Given the description of an element on the screen output the (x, y) to click on. 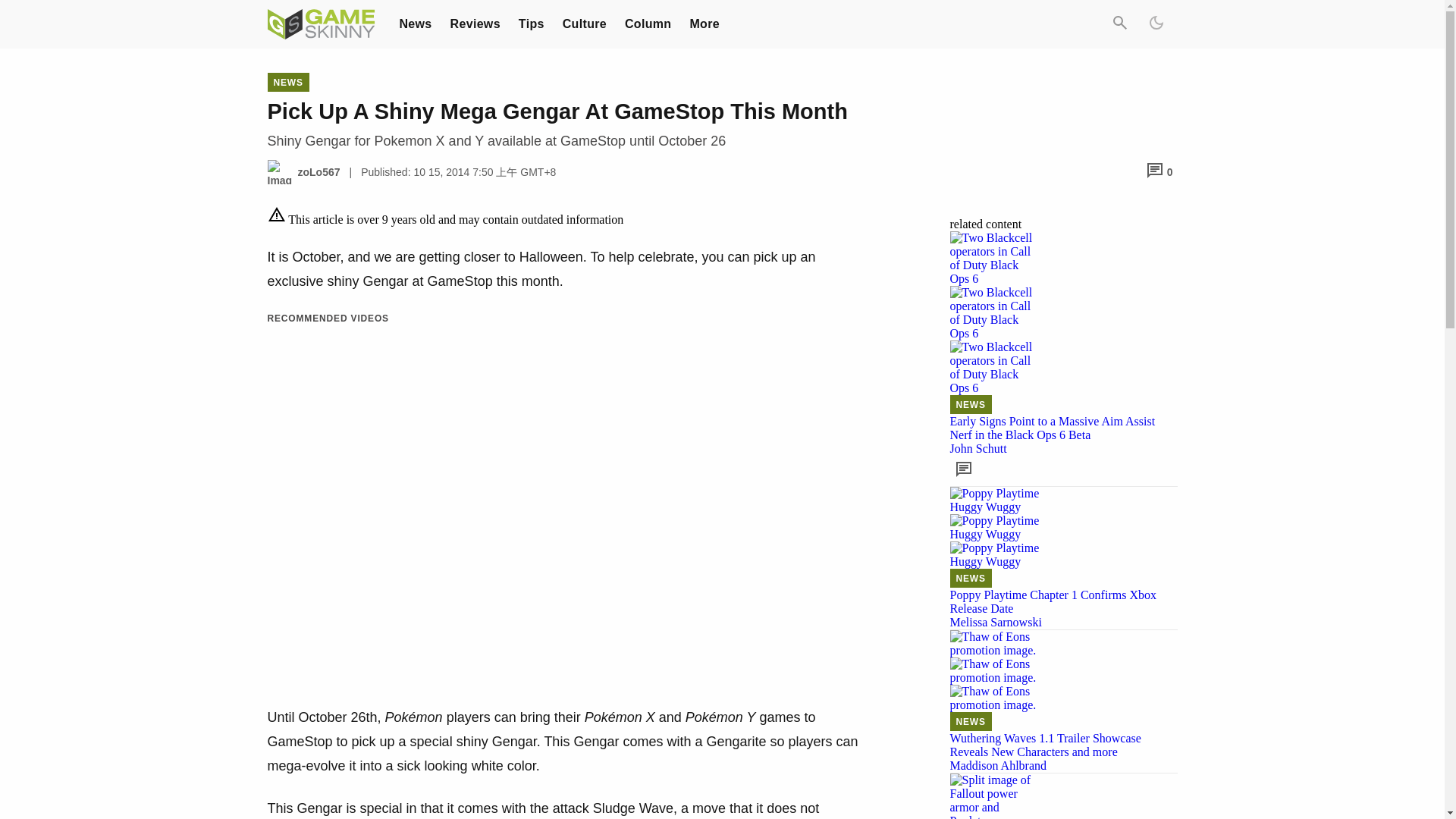
Culture (584, 23)
Dark Mode (1155, 23)
News (414, 23)
Column (647, 23)
Reviews (474, 23)
Search (1118, 23)
Tips (531, 23)
